Given the description of an element on the screen output the (x, y) to click on. 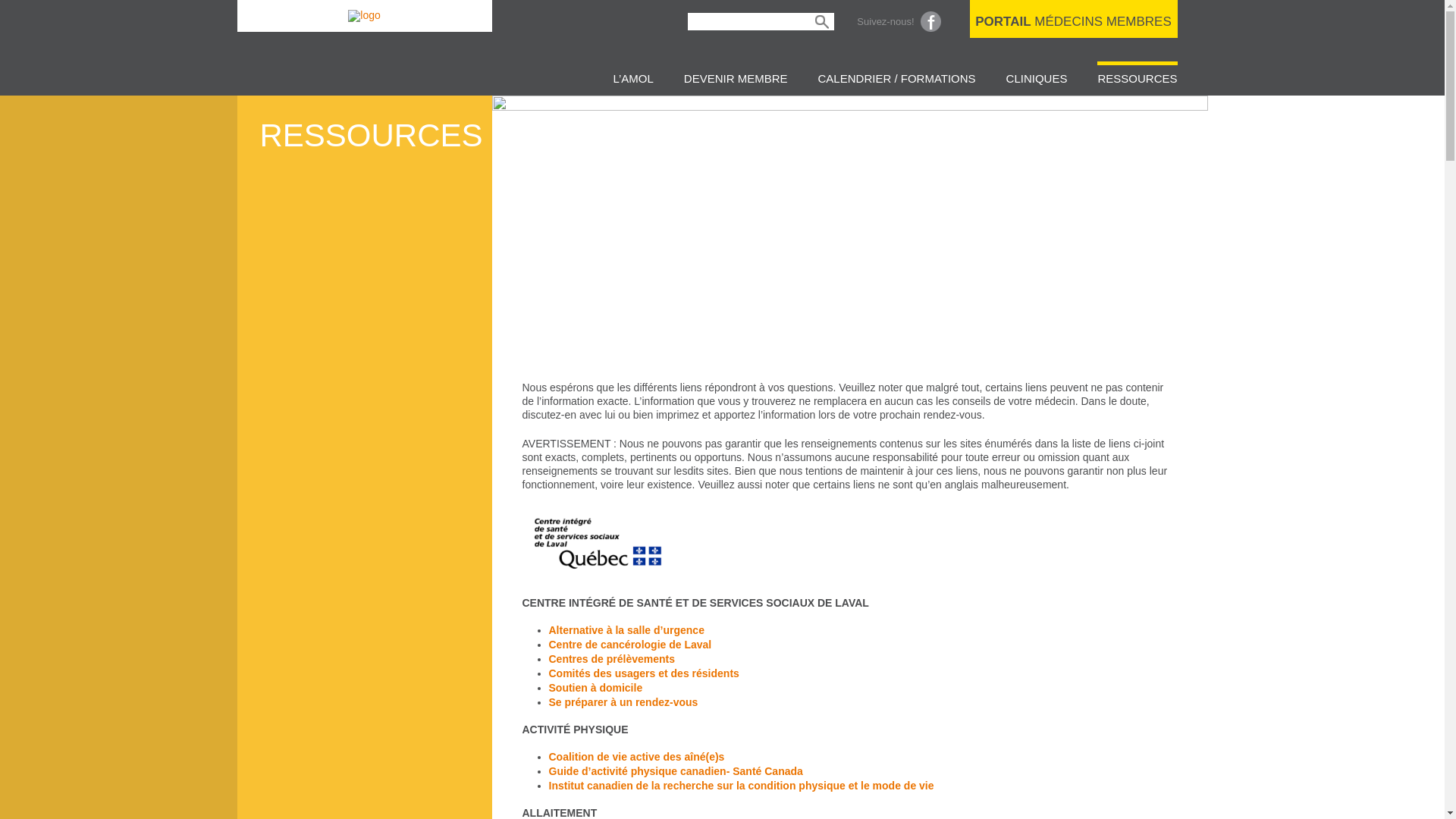
CLINIQUES Element type: text (1036, 76)
CALENDRIER / FORMATIONS Element type: text (896, 76)
DEVENIR MEMBRE Element type: text (735, 76)
RESSOURCES Element type: text (1136, 76)
